Given the description of an element on the screen output the (x, y) to click on. 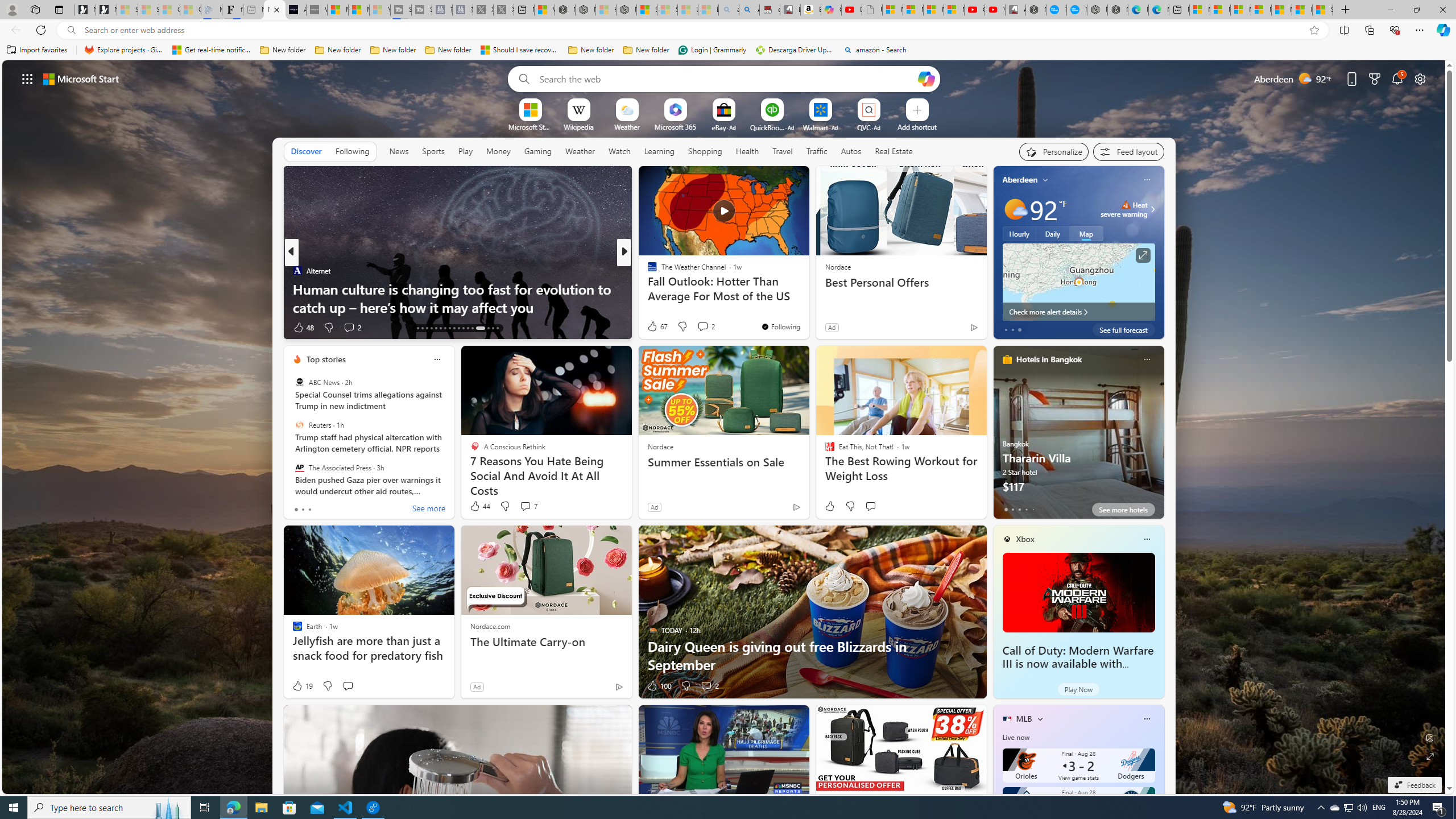
More Options (886, 101)
Microsoft 365 (675, 126)
Open Copilot (925, 78)
Ad (476, 686)
Learning (658, 151)
AutomationID: tab-29 (472, 328)
Traffic (816, 151)
X - Sleeping (503, 9)
19 Like (301, 685)
New folder (646, 49)
Restore (1416, 9)
Mostly sunny (1014, 208)
Best Personal Offers (900, 282)
